Given the description of an element on the screen output the (x, y) to click on. 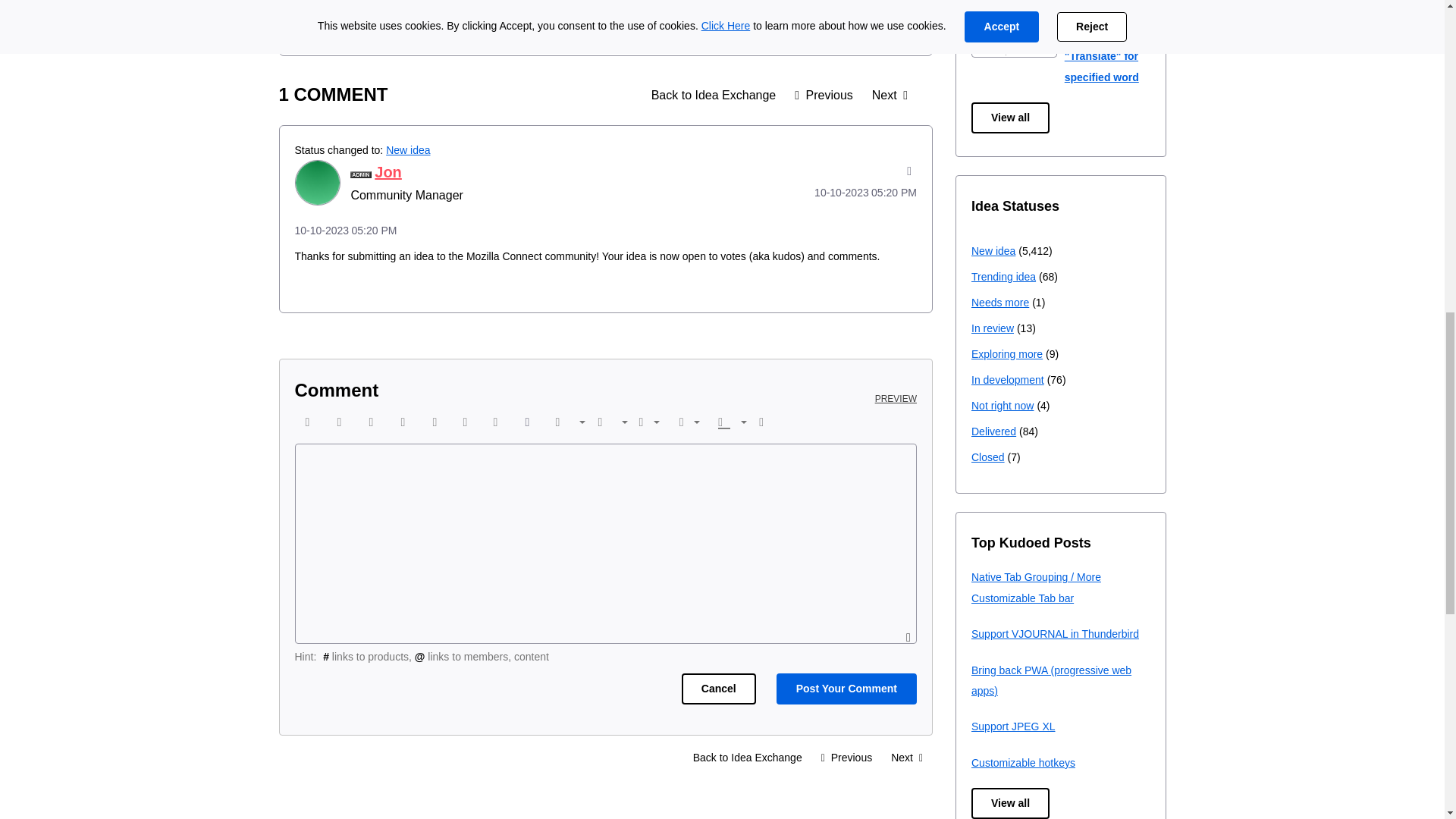
Posted on (605, 230)
Jon (316, 182)
Ideas (714, 94)
Click here to give kudos to this post. (307, 14)
Community Manager (360, 174)
Thunderbird: Add ability to mark as read in single click. (823, 94)
Click here to see who gave kudos to this post. (339, 13)
Expand text snippets in email composition (889, 94)
Post Your Comment (846, 688)
Posted on (845, 192)
